Given the description of an element on the screen output the (x, y) to click on. 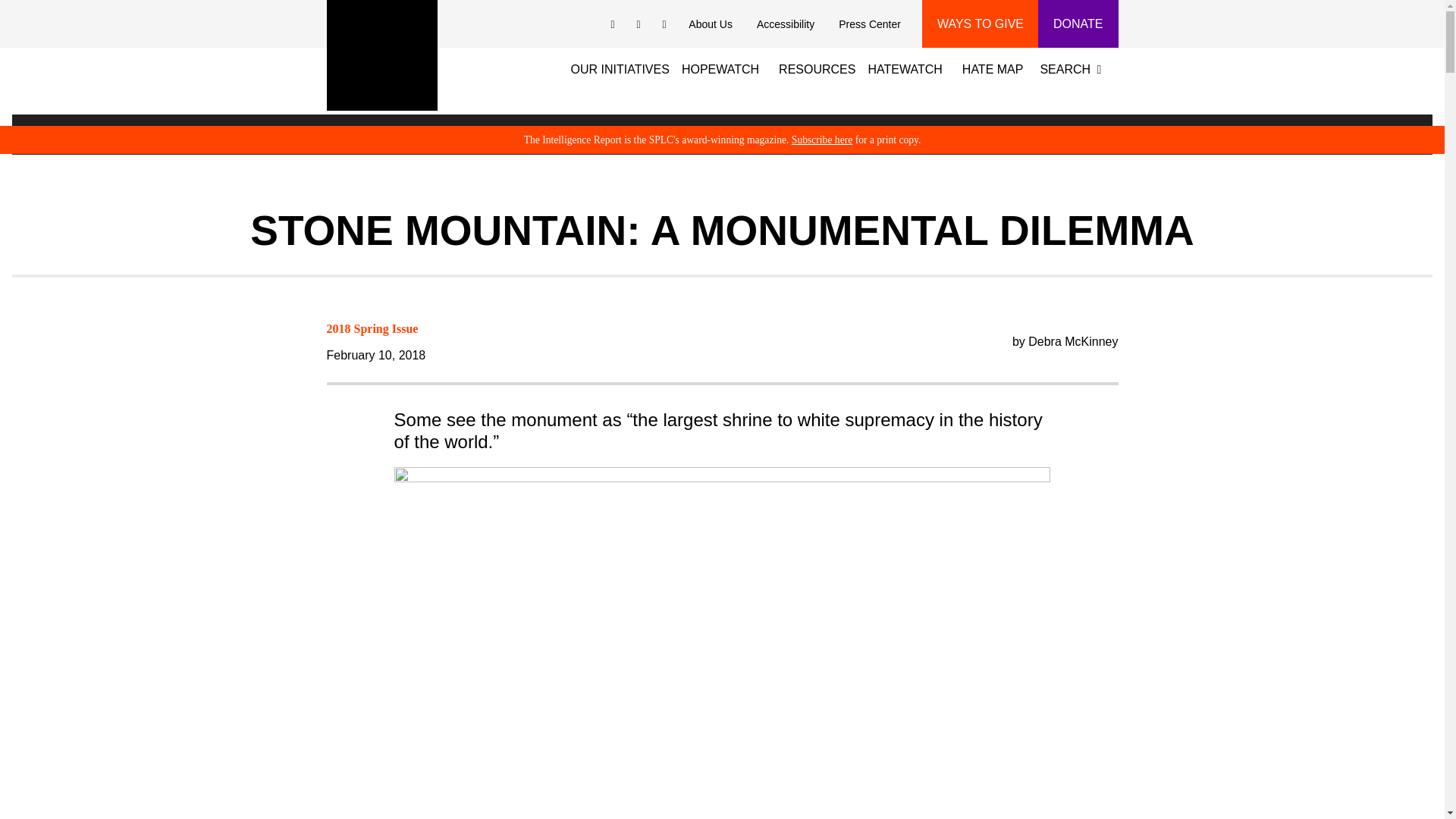
OUR INITIATIVES (624, 67)
HATEWATCH (904, 67)
Accessibility (785, 24)
Home (381, 55)
About Us (710, 24)
DONATE (1078, 23)
SEARCH (1073, 67)
HATE MAP (998, 67)
RESOURCES (822, 67)
WAYS TO GIVE (980, 23)
